Given the description of an element on the screen output the (x, y) to click on. 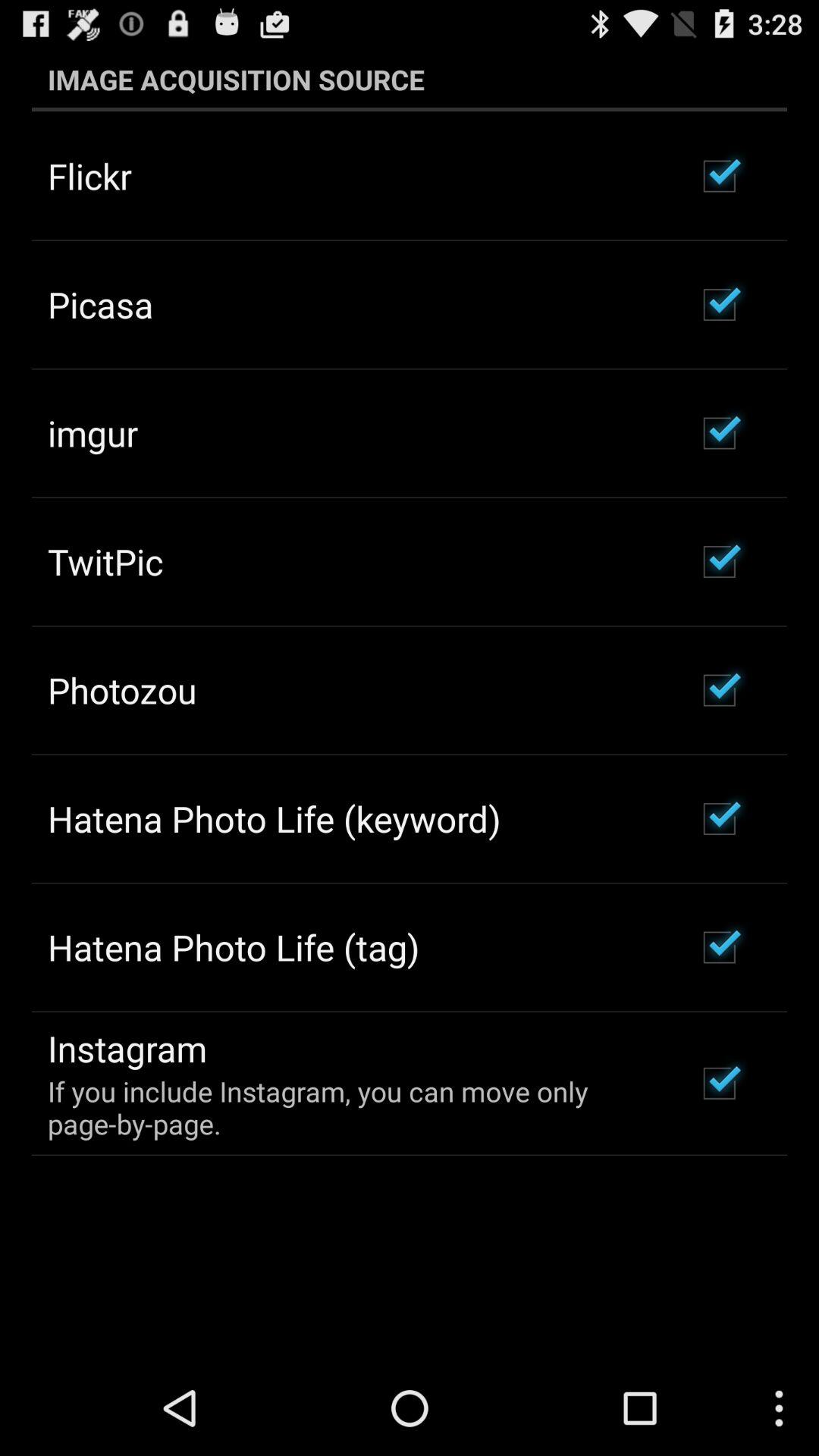
turn off the icon at the bottom (351, 1107)
